Given the description of an element on the screen output the (x, y) to click on. 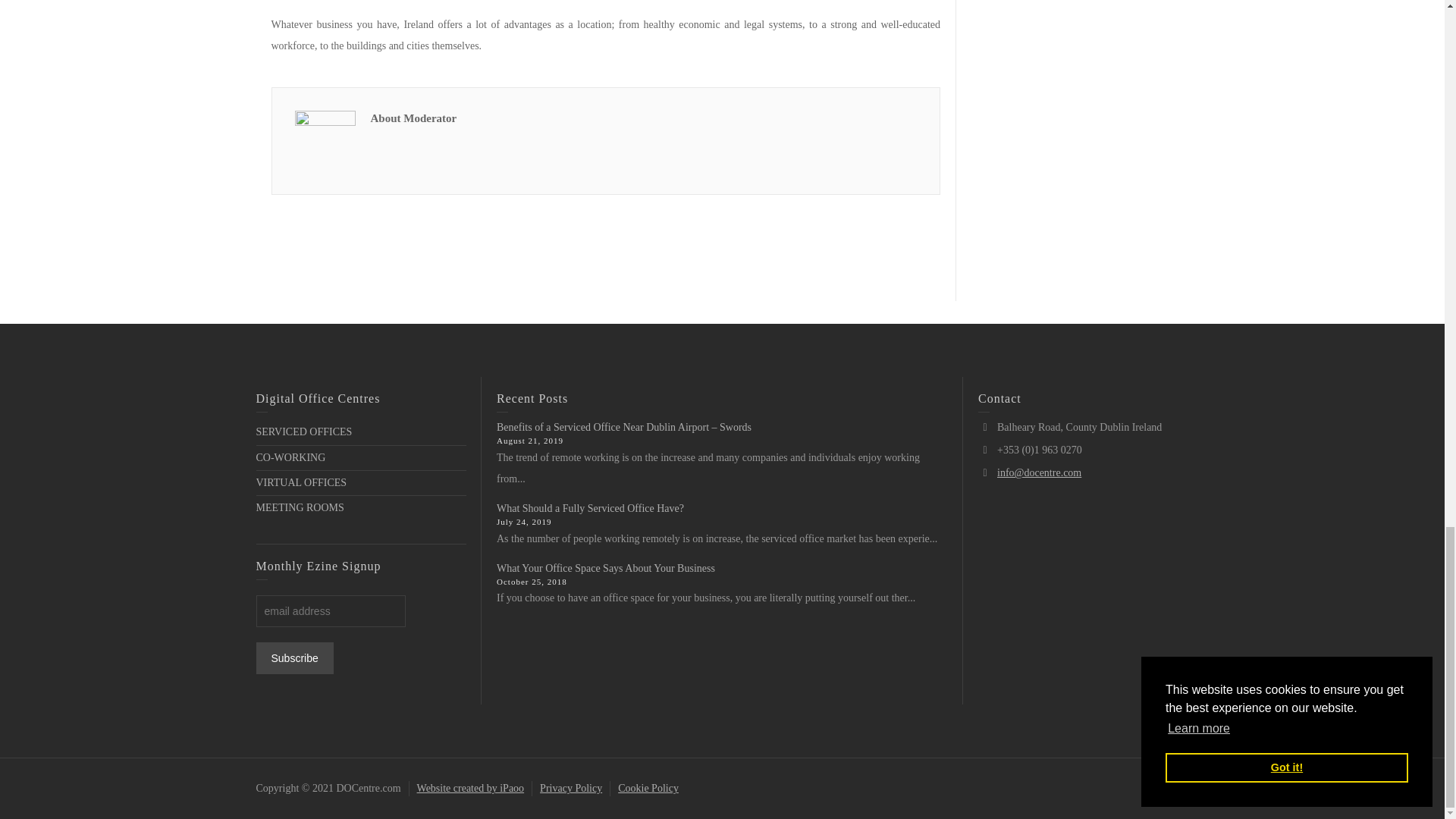
Subscribe (294, 658)
